Given the description of an element on the screen output the (x, y) to click on. 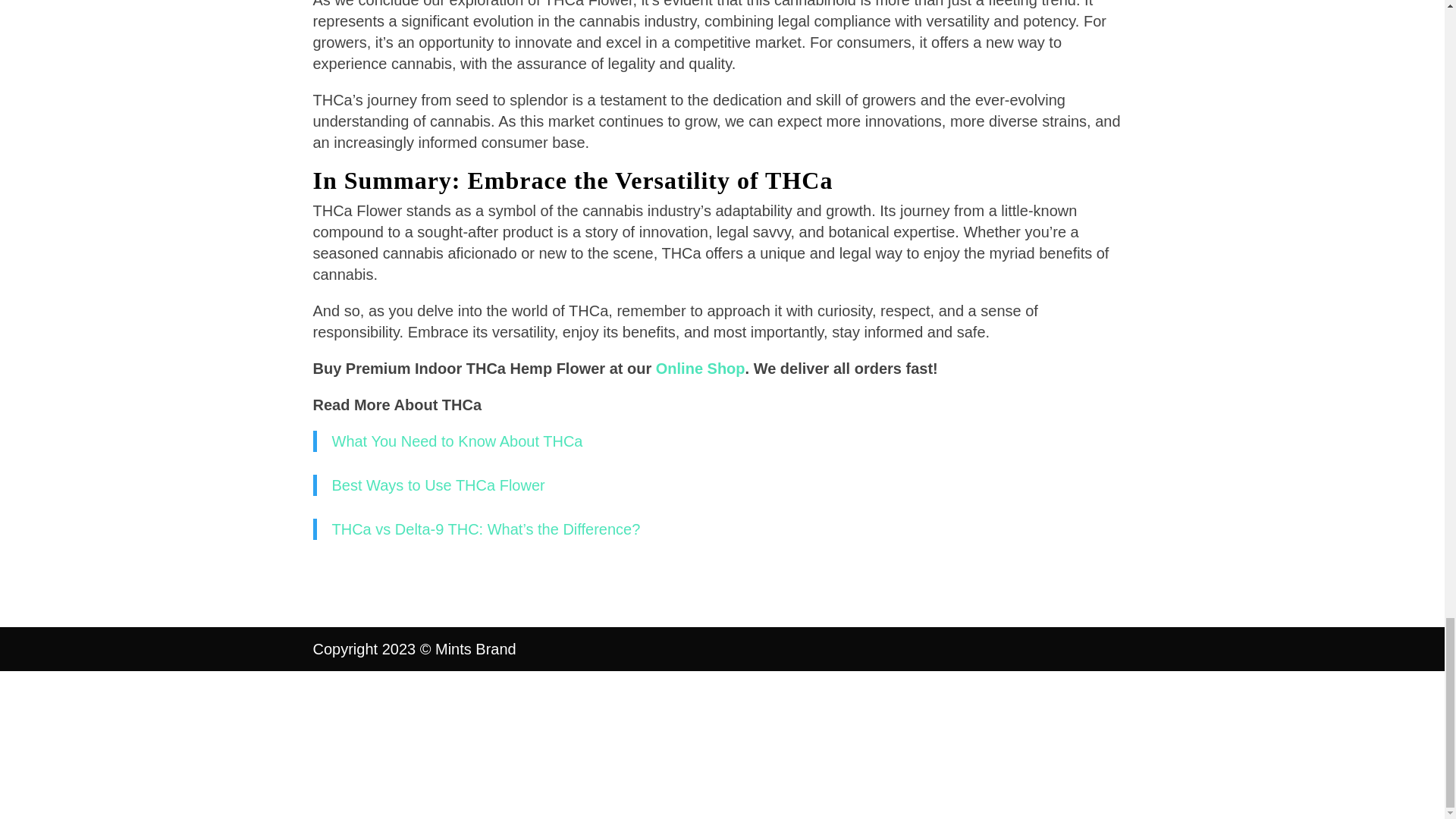
Best Ways to Use THCa Flower (437, 484)
What You Need to Know About THCa (457, 441)
Online Shop (700, 368)
